Given the description of an element on the screen output the (x, y) to click on. 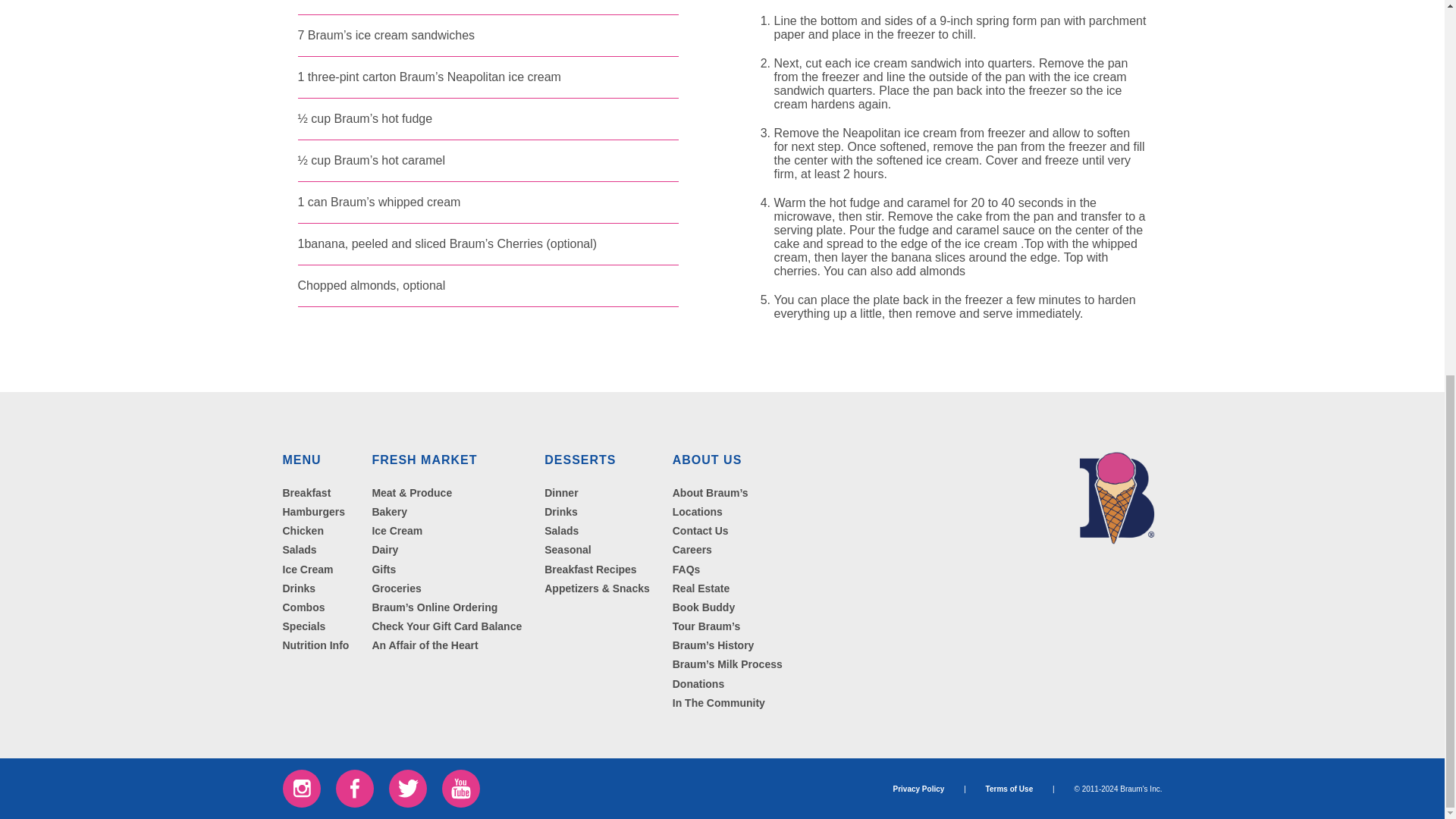
Hamburgers (312, 511)
MENU (301, 459)
Breakfast (306, 492)
